Given the description of an element on the screen output the (x, y) to click on. 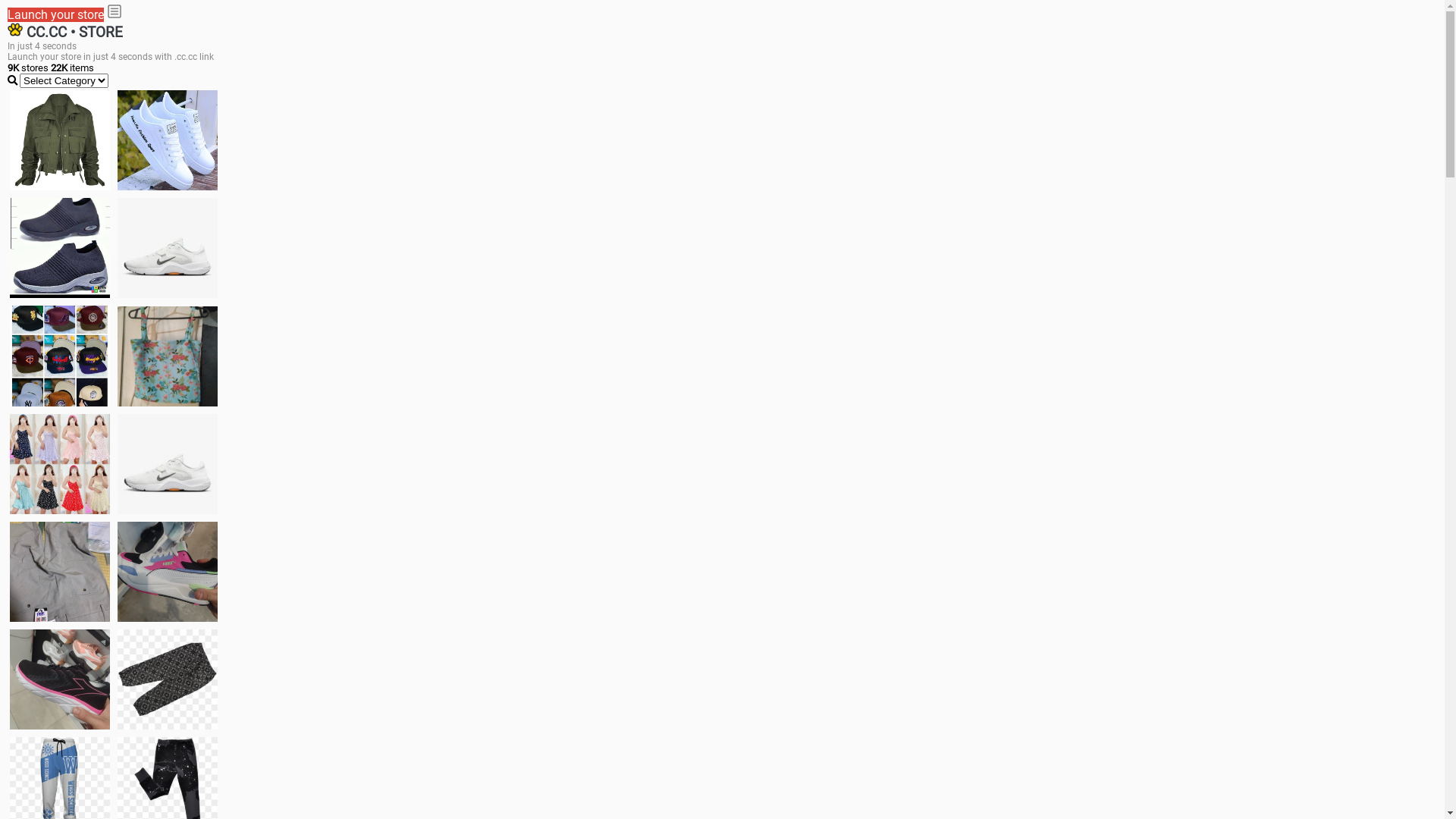
shoes for boys Element type: hover (59, 247)
Dress/square nect top Element type: hover (59, 464)
Shoes for boys Element type: hover (167, 247)
Short pant Element type: hover (167, 679)
Ukay cloth Element type: hover (167, 356)
Launch your store Element type: text (55, 14)
Zapatillas Element type: hover (59, 679)
Things we need Element type: hover (59, 355)
Zapatillas pumas Element type: hover (167, 571)
jacket Element type: hover (59, 140)
white shoes Element type: hover (167, 140)
Shoes Element type: hover (167, 464)
